Given the description of an element on the screen output the (x, y) to click on. 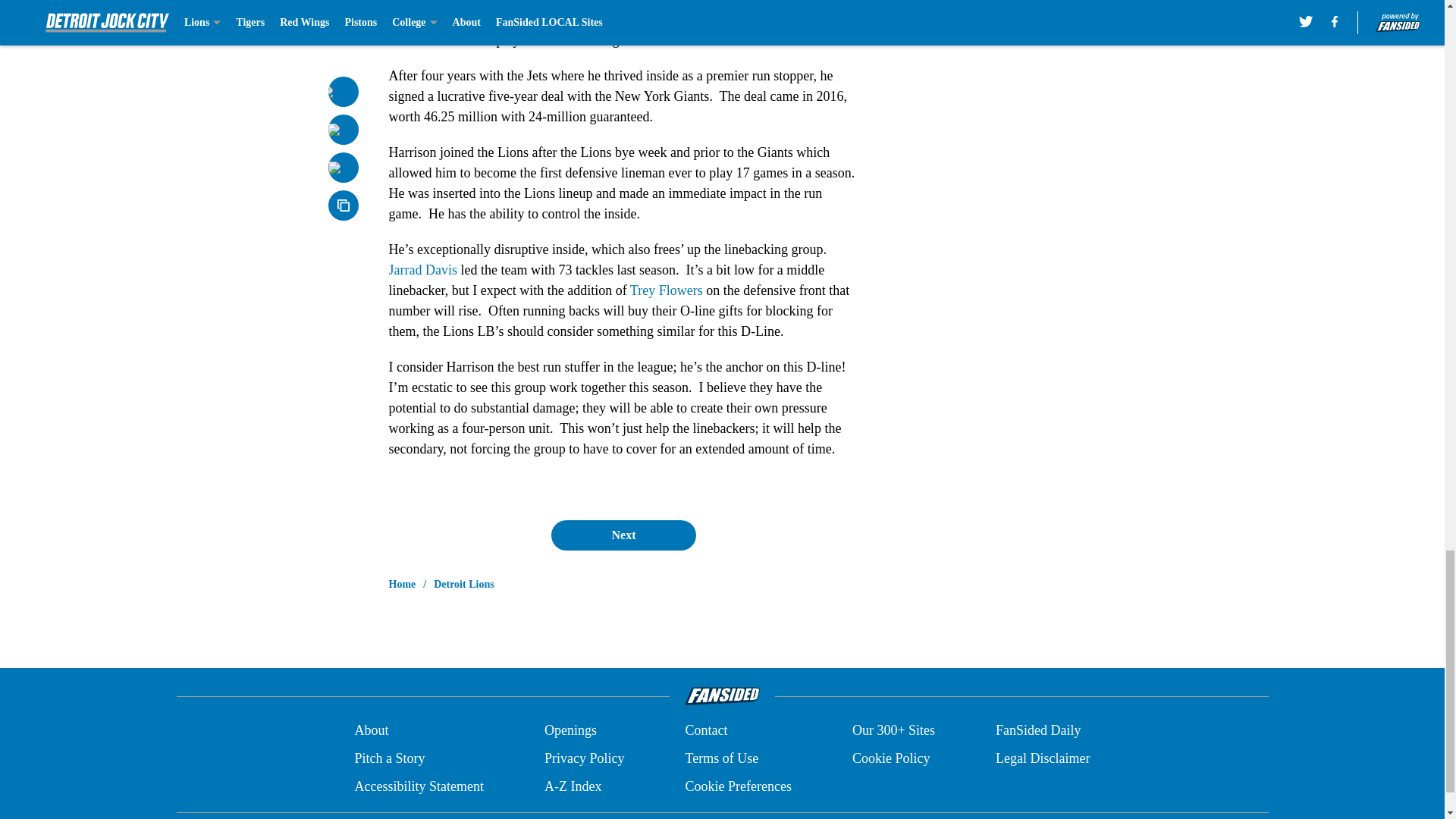
About (370, 730)
Detroit Lions (463, 584)
Pitch a Story (389, 758)
Trey Flowers (666, 290)
Home (401, 584)
FanSided Daily (1038, 730)
Next (622, 535)
Openings (570, 730)
Jarrad Davis (422, 269)
Contact (705, 730)
